Given the description of an element on the screen output the (x, y) to click on. 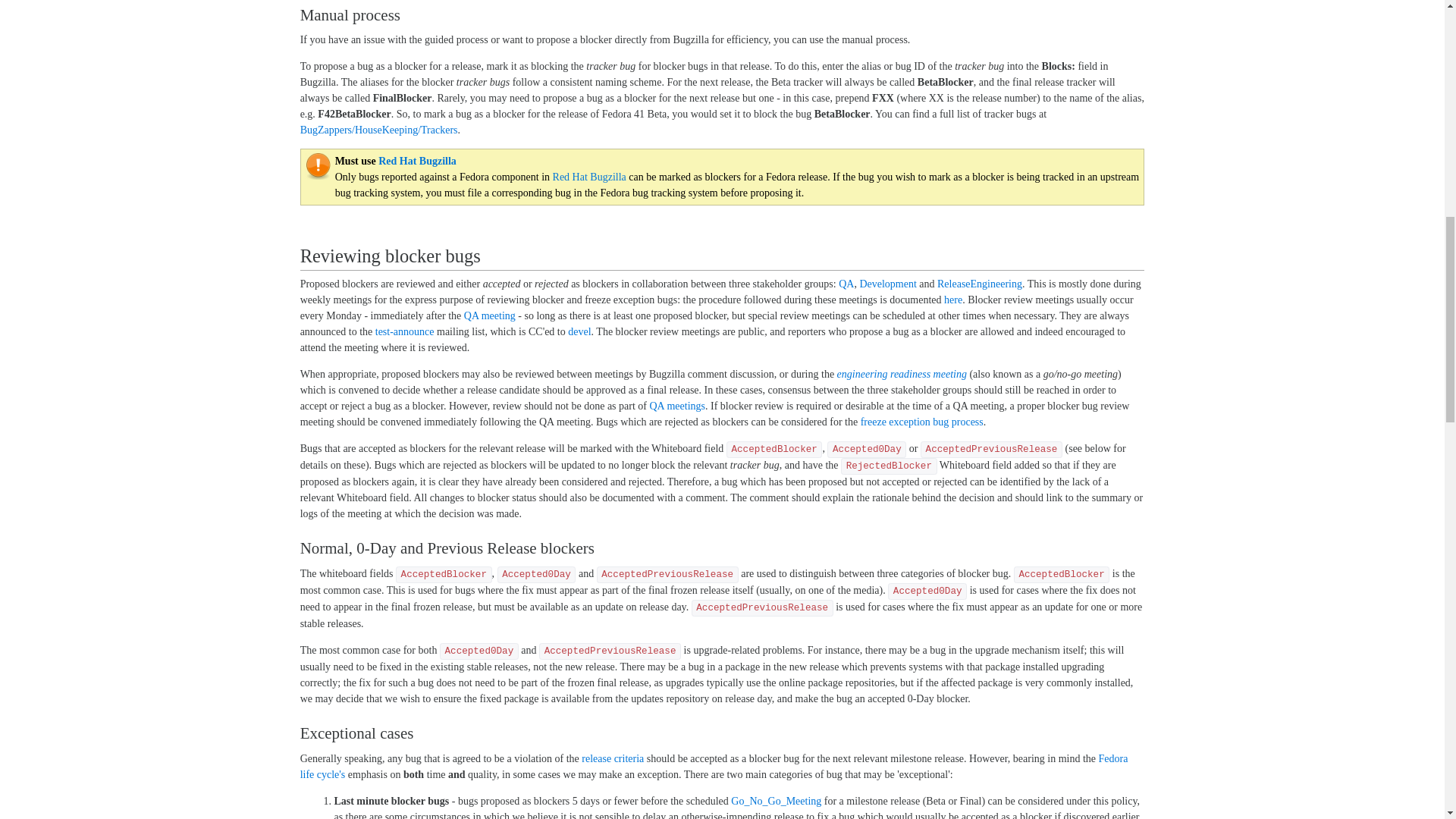
ReleaseEngineering (979, 283)
QA (845, 283)
QA:SOP Blocker Bug Meeting (952, 299)
Development (887, 283)
